Given the description of an element on the screen output the (x, y) to click on. 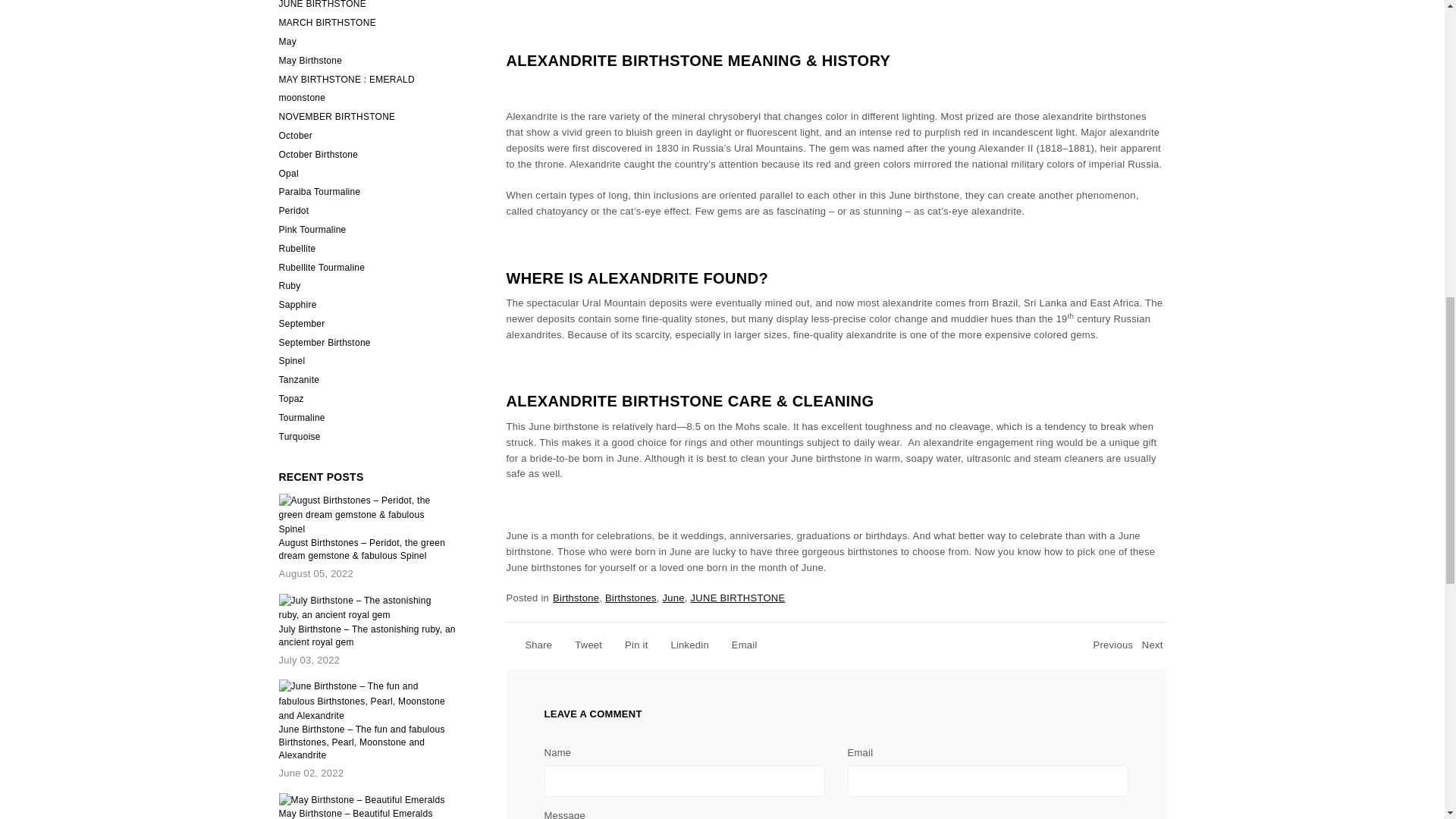
Pin on Pinterest (627, 645)
Share on Linkedin (682, 645)
Tweet on Twitter (580, 645)
Share on Facebook (531, 645)
